Given the description of an element on the screen output the (x, y) to click on. 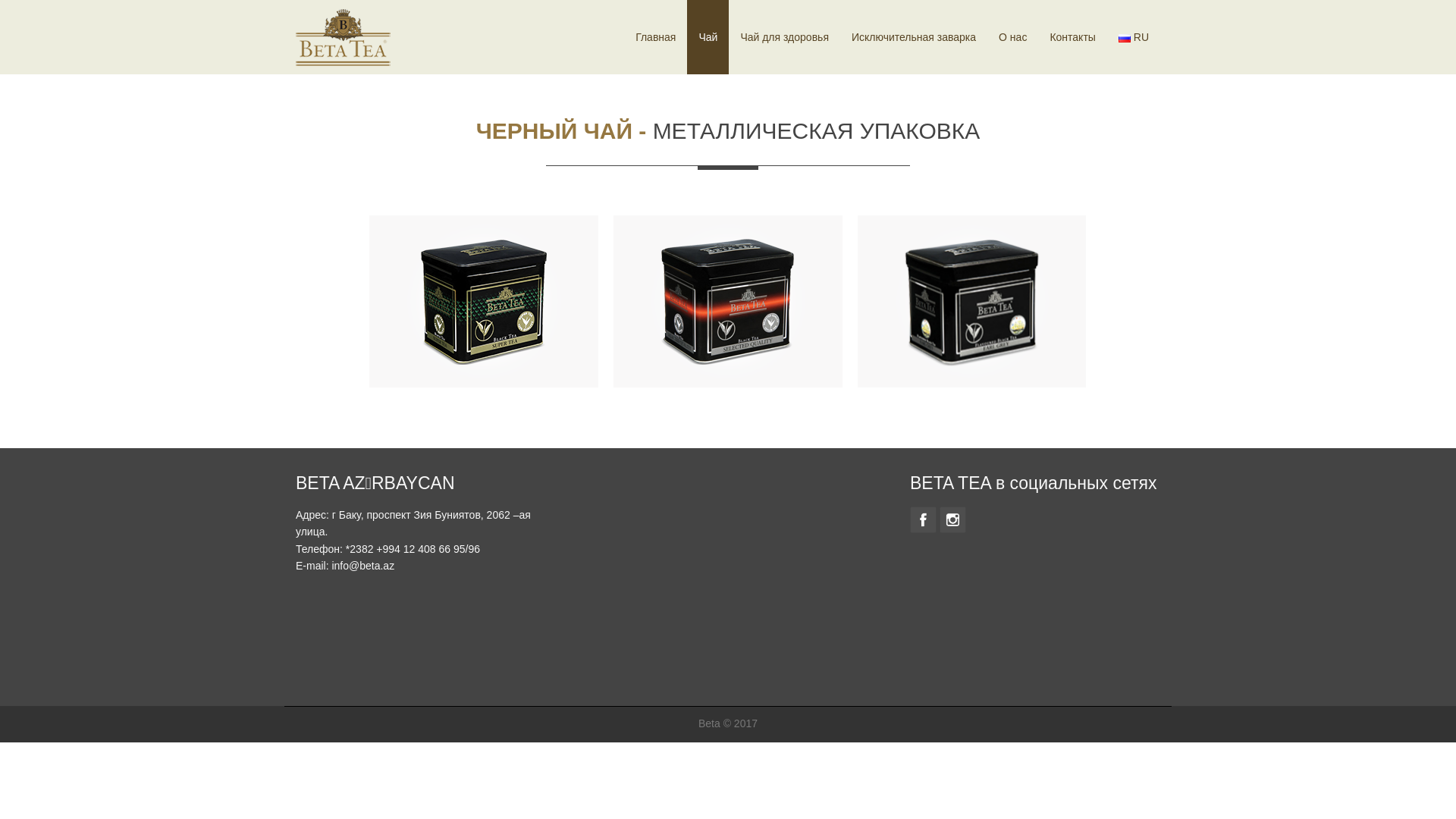
BETA TEA Element type: hover (342, 36)
 RU Element type: text (1133, 37)
RU Element type: hover (1124, 38)
